Given the description of an element on the screen output the (x, y) to click on. 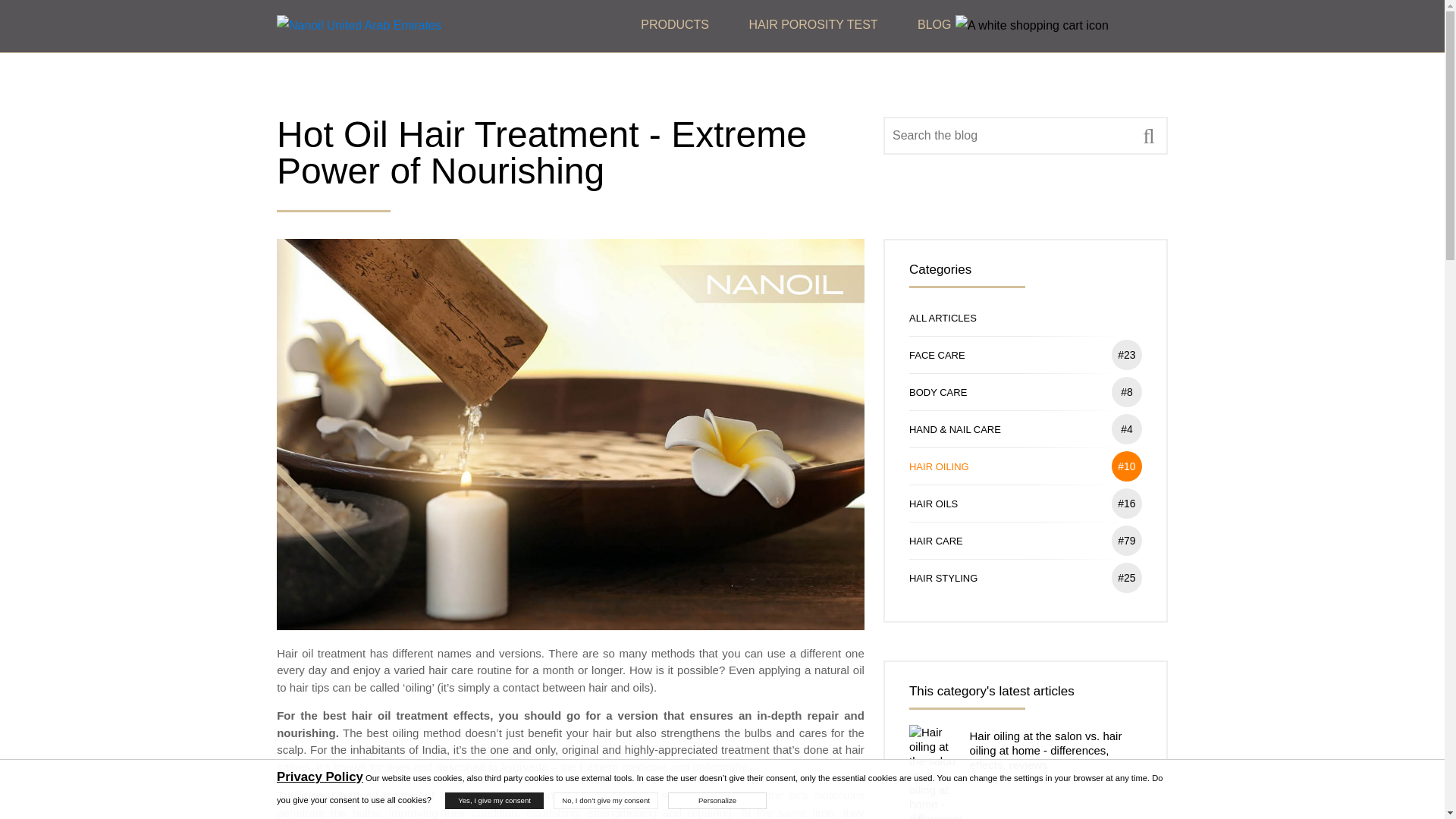
Nanoil United Arab Emirates (358, 24)
HAIR POROSITY TEST (812, 25)
BLOG (933, 25)
PRODUCTS (674, 25)
